Given the description of an element on the screen output the (x, y) to click on. 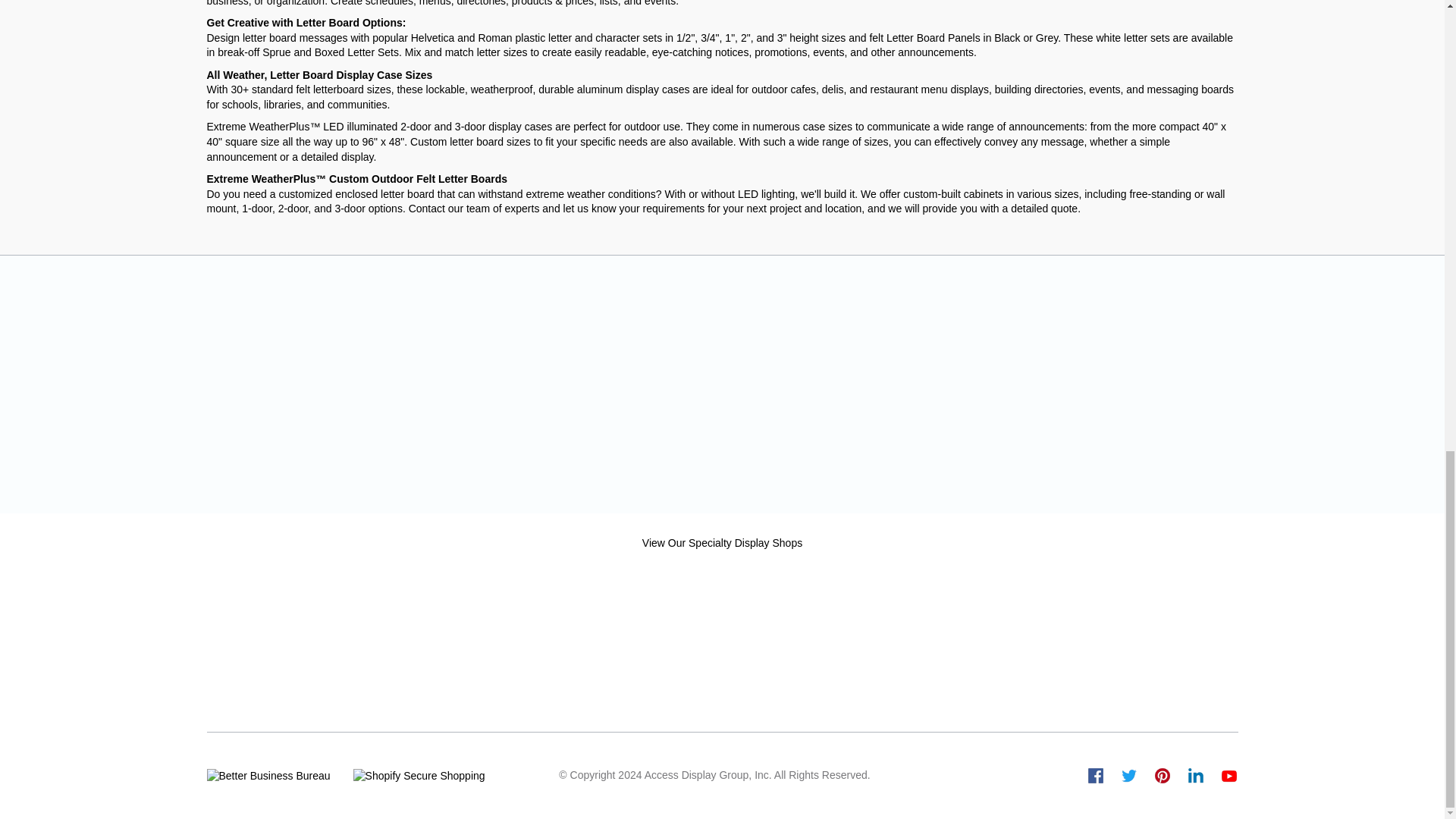
SwingFrames4Sale on LinkedIn (1195, 775)
SwingFrames4Sale on Pinterest (1161, 775)
SwingFrames4Sale on Facebook (1094, 775)
SwingFrames4Sale on Youtube (1228, 775)
SwingFrames4Sale on Twitter (1128, 775)
